Given the description of an element on the screen output the (x, y) to click on. 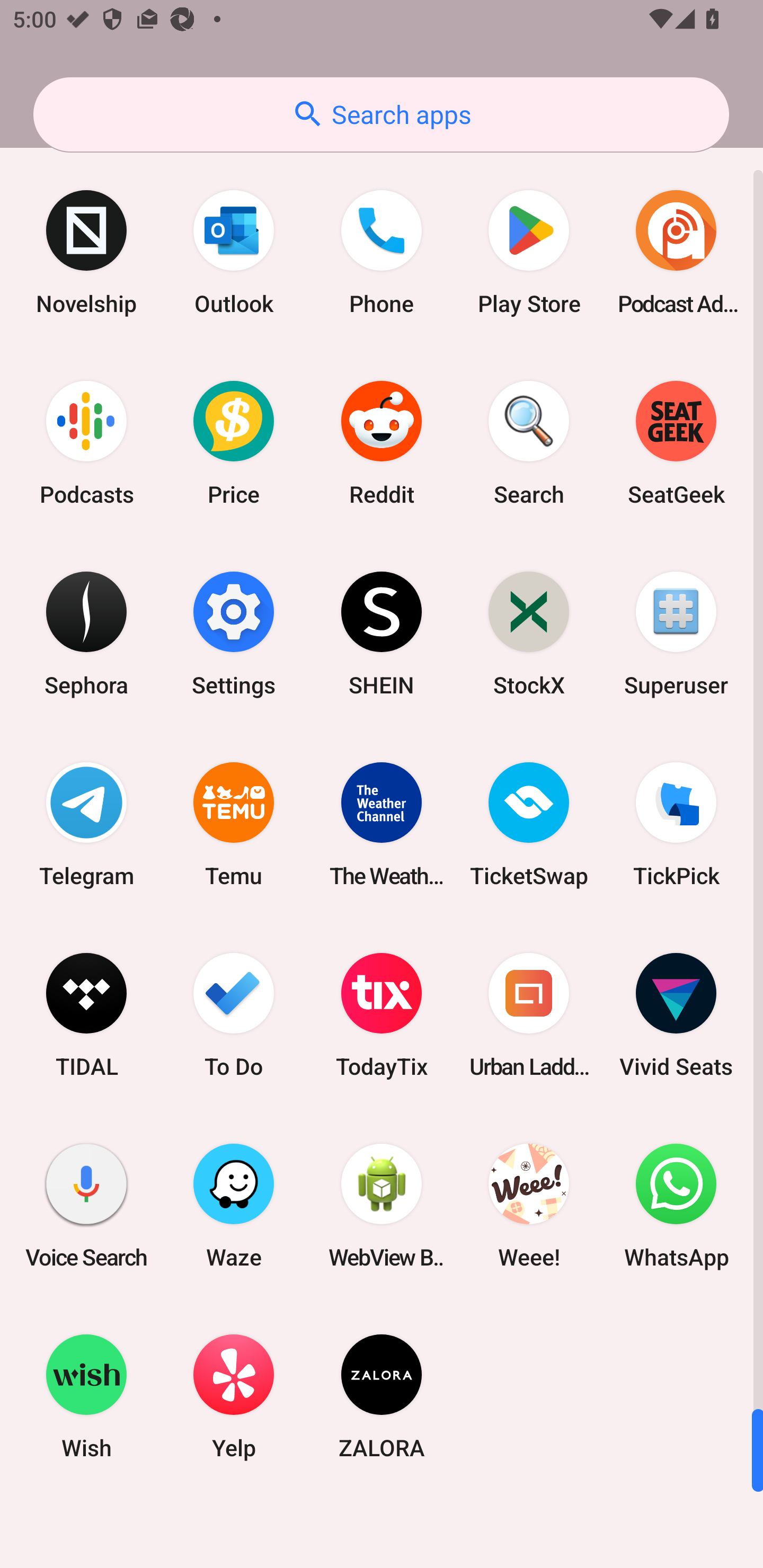
Yelp (233, 1396)
